Given the description of an element on the screen output the (x, y) to click on. 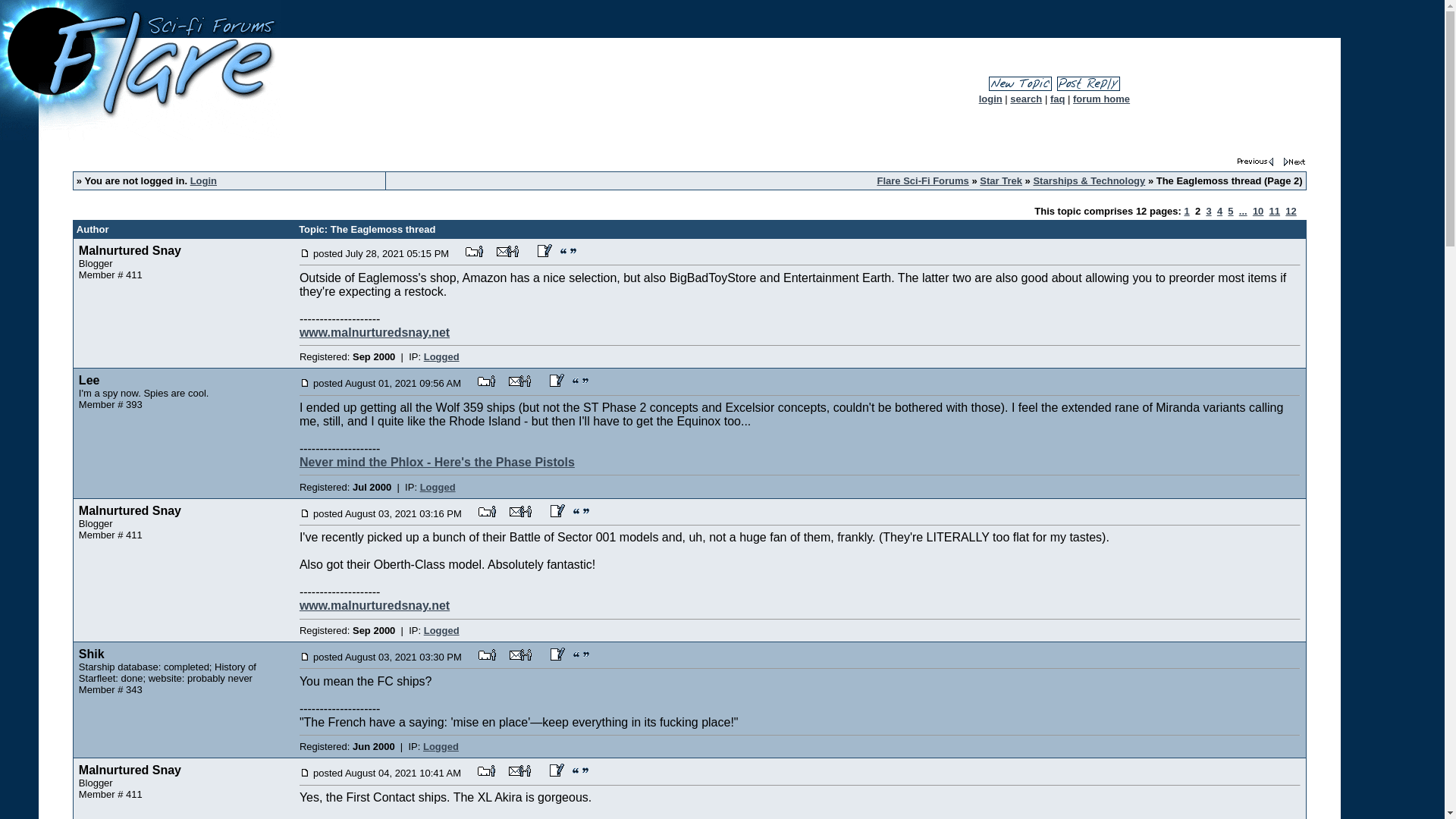
Malnurtured Snay (129, 250)
Flare Sci-Fi Forums (922, 180)
search (1026, 98)
Lee (89, 379)
Search (1026, 98)
login (990, 98)
Frequently Asked Questions (1057, 98)
Forum Home (1101, 98)
faq (1057, 98)
Login (203, 180)
